Given the description of an element on the screen output the (x, y) to click on. 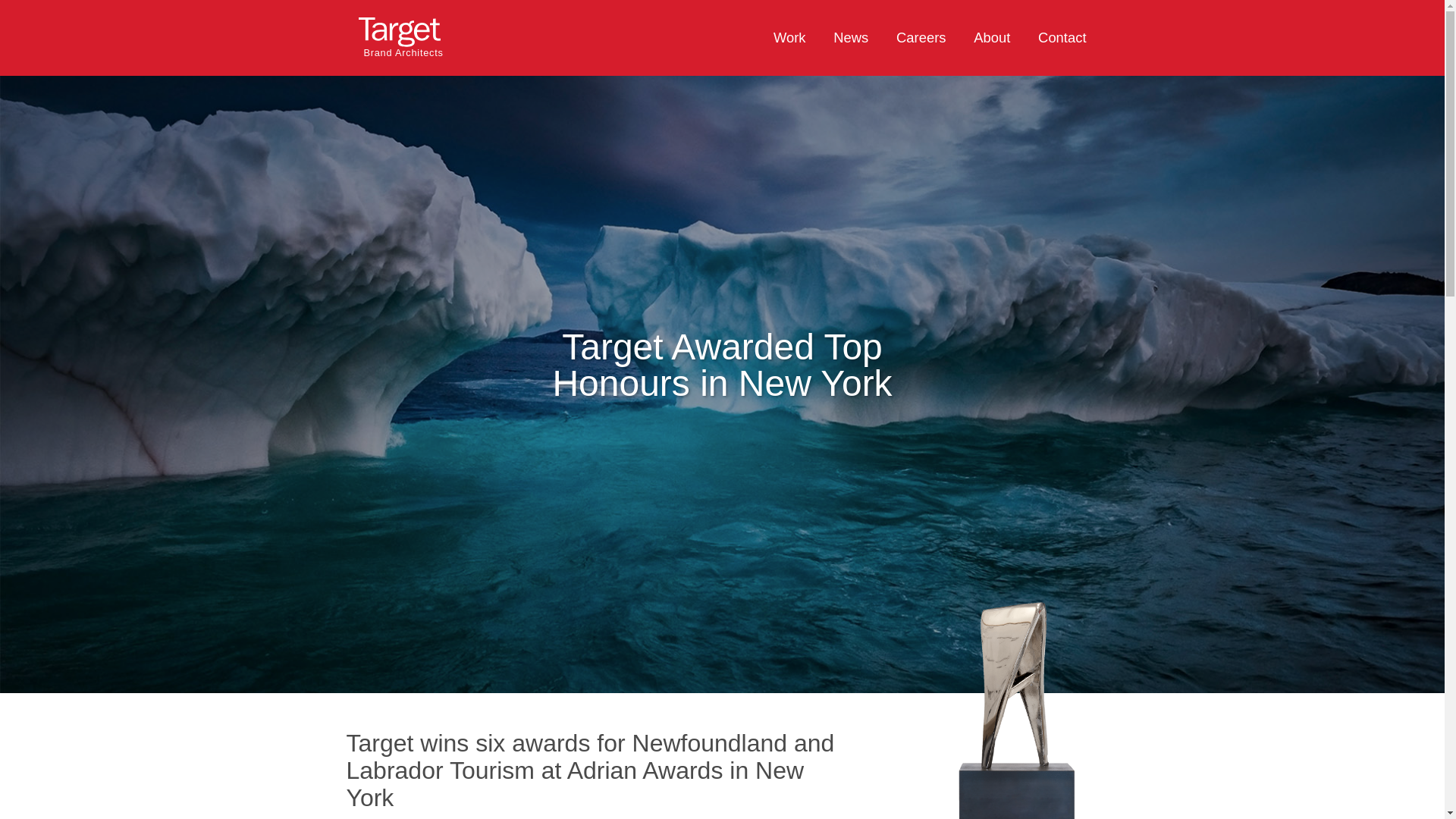
About (992, 37)
Careers (920, 37)
Brand Architects (409, 42)
Work (789, 37)
Contact (1055, 37)
News (850, 37)
